Given the description of an element on the screen output the (x, y) to click on. 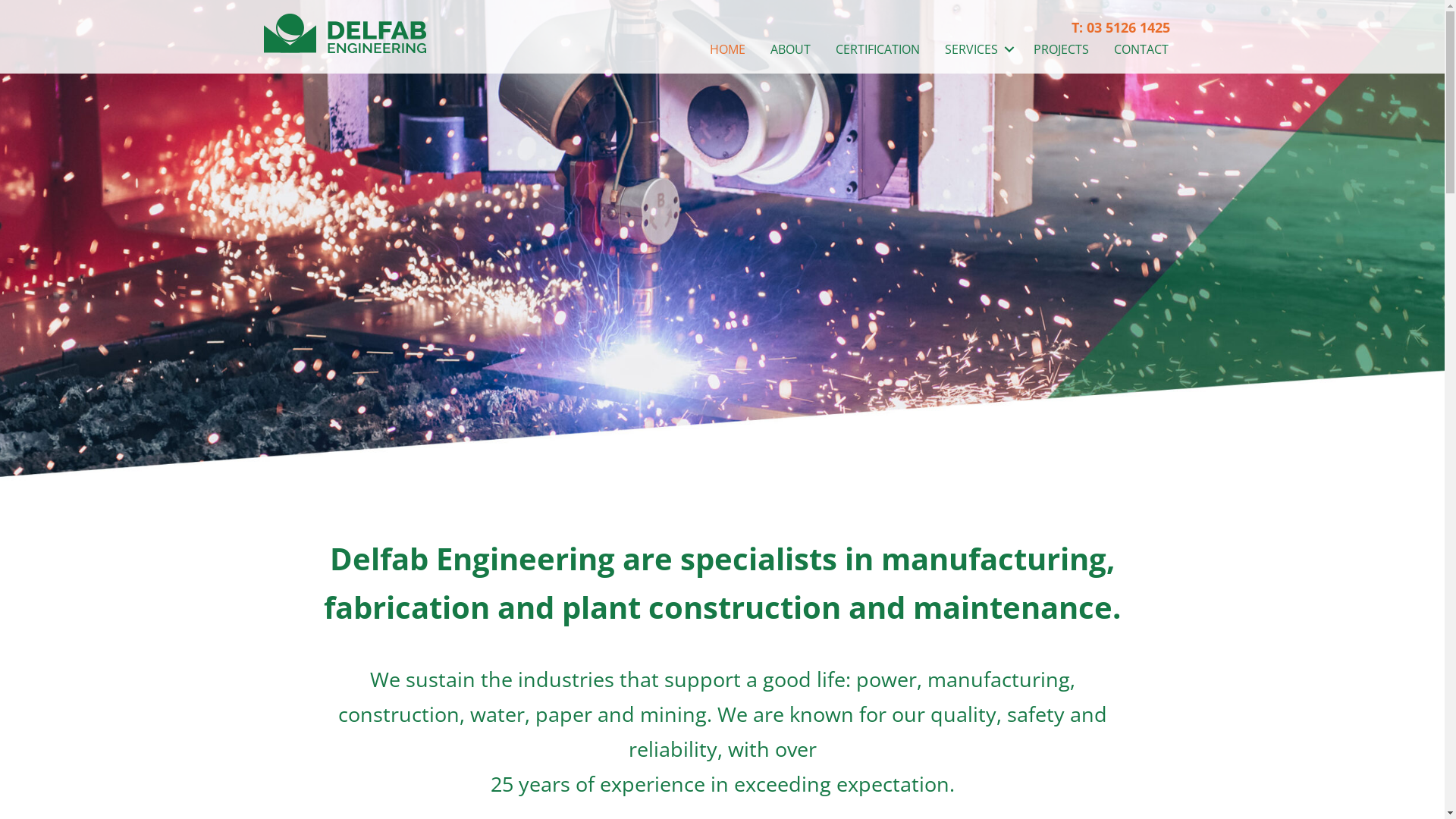
ABOUT Element type: text (790, 48)
CERTIFICATION Element type: text (877, 48)
SERVICES Element type: text (976, 48)
HOME Element type: text (727, 48)
03 5126 1425 Element type: text (1128, 27)
CONTACT Element type: text (1140, 48)
Delfab Logo Element type: hover (344, 33)
PROJECTS Element type: text (1061, 48)
